Given the description of an element on the screen output the (x, y) to click on. 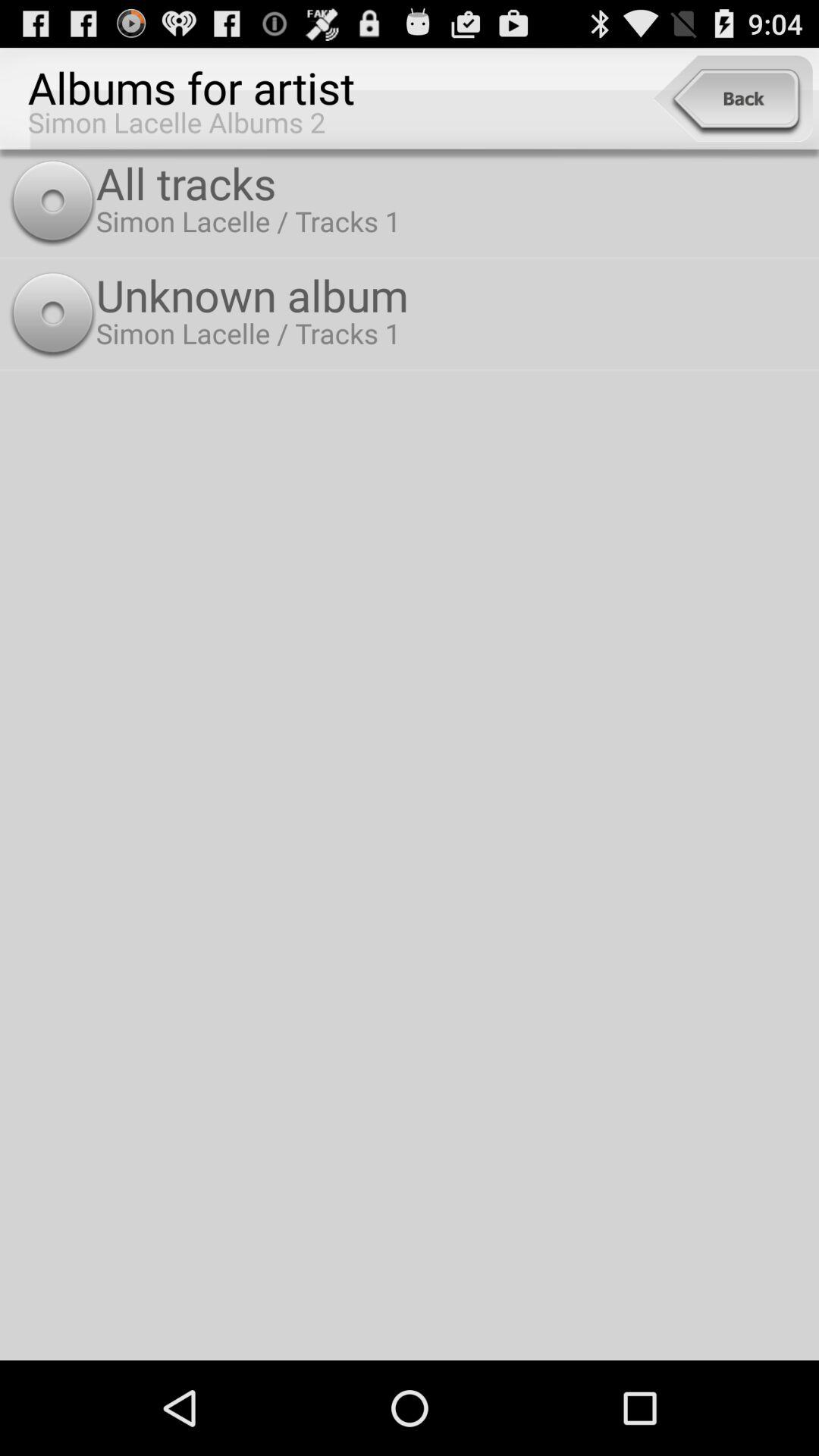
go back (732, 98)
